Given the description of an element on the screen output the (x, y) to click on. 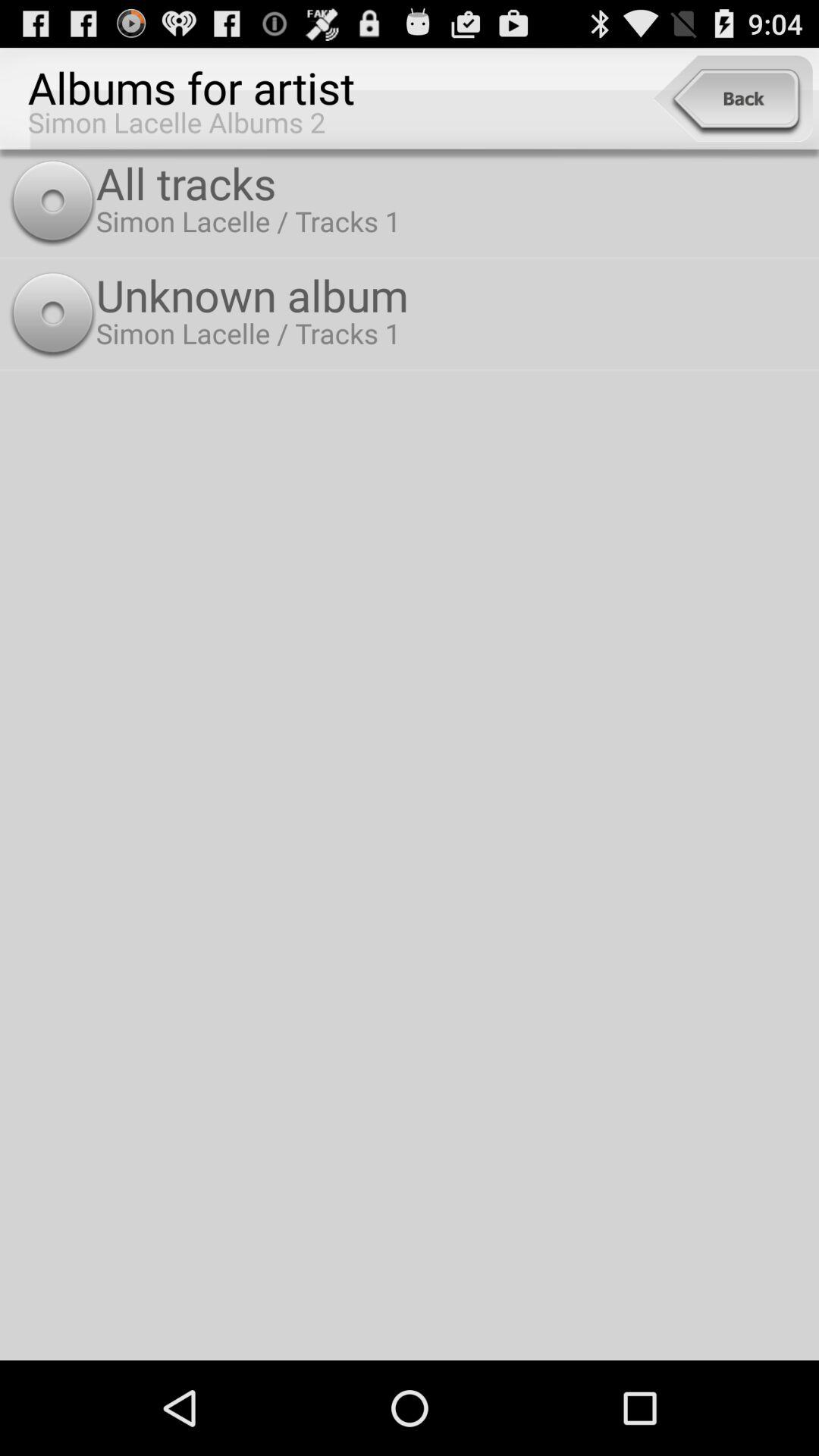
go back (732, 98)
